Given the description of an element on the screen output the (x, y) to click on. 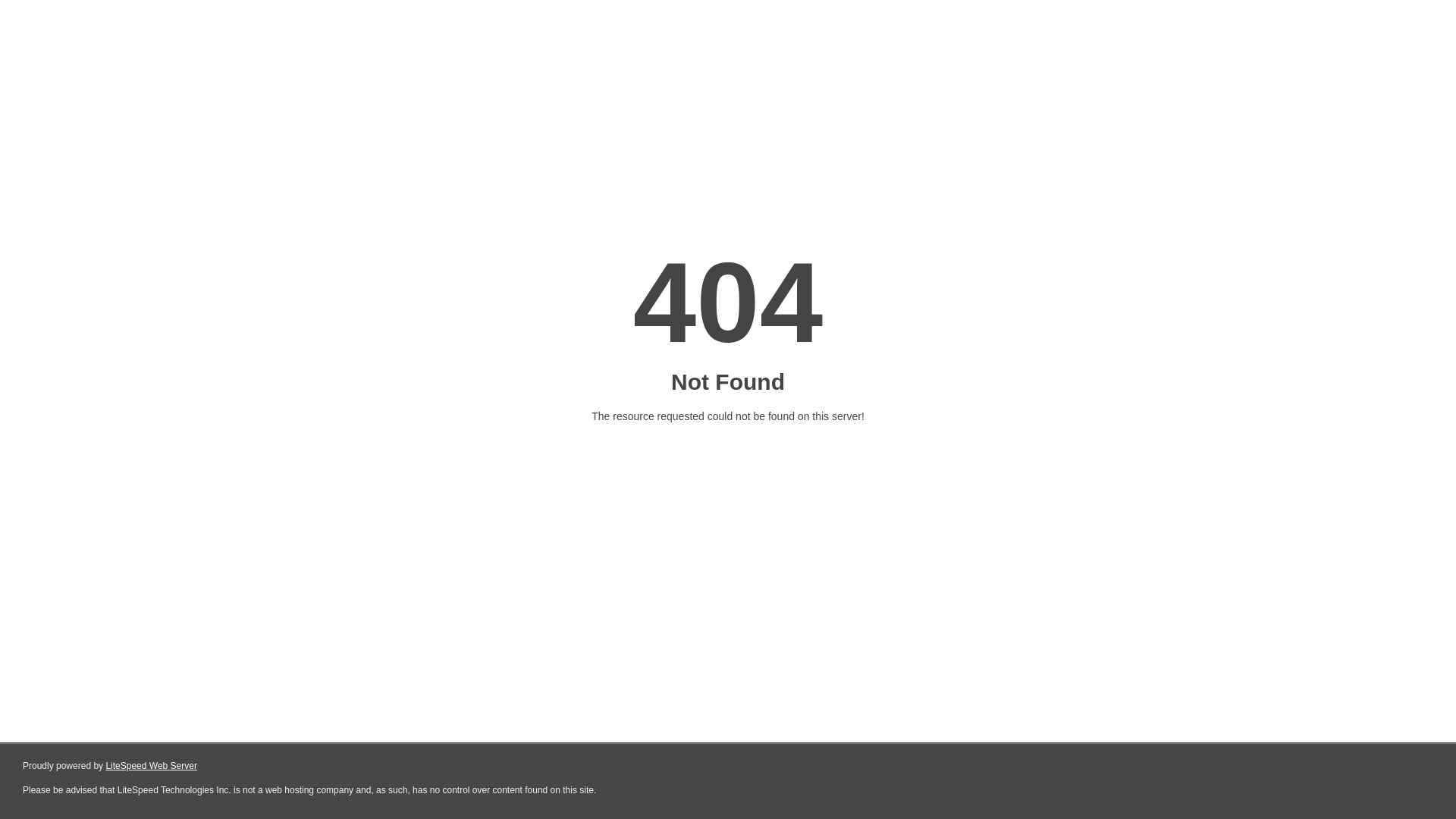
LiteSpeed Web Server Element type: text (151, 765)
